Given the description of an element on the screen output the (x, y) to click on. 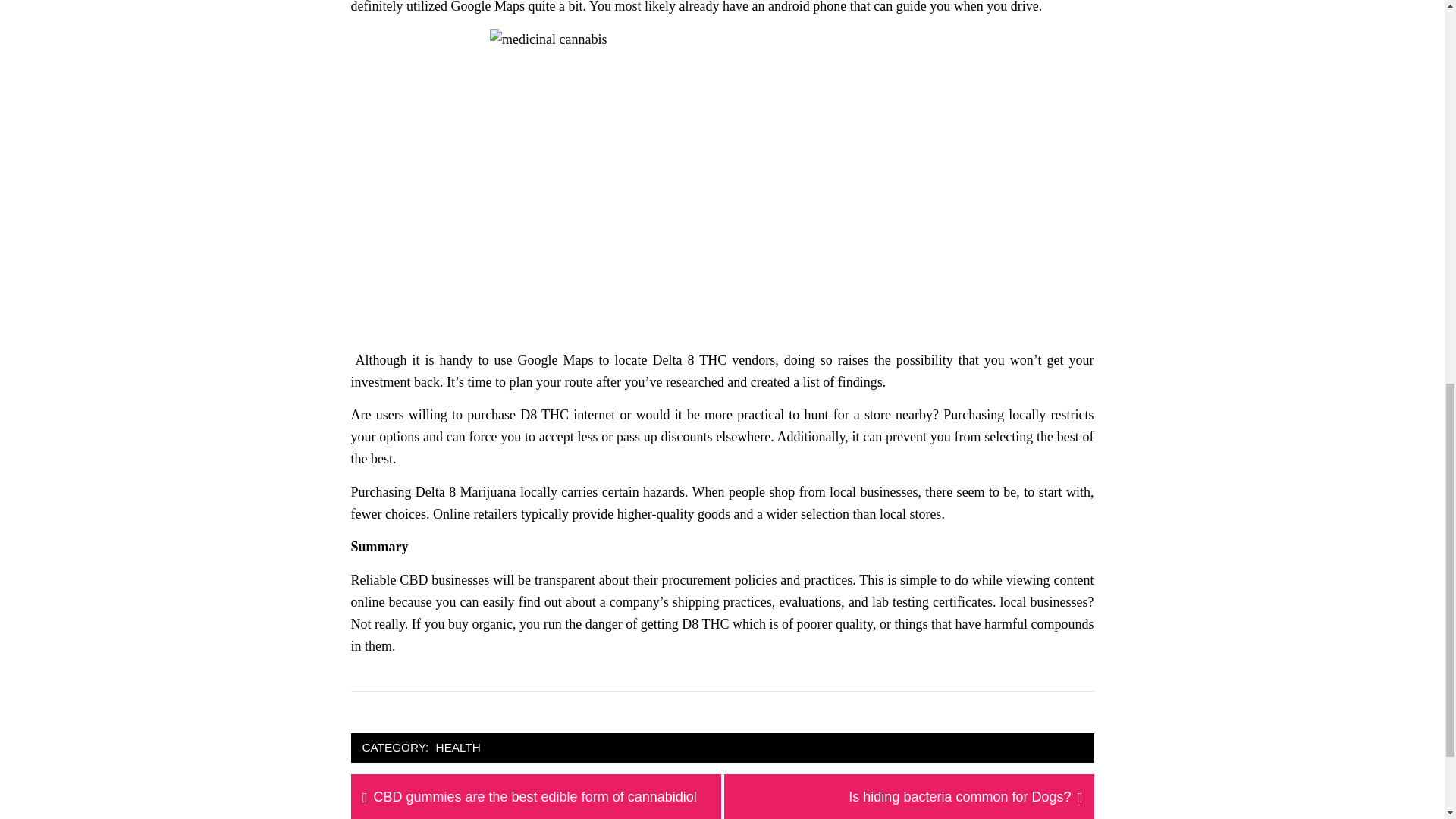
HEALTH (458, 748)
